Given the description of an element on the screen output the (x, y) to click on. 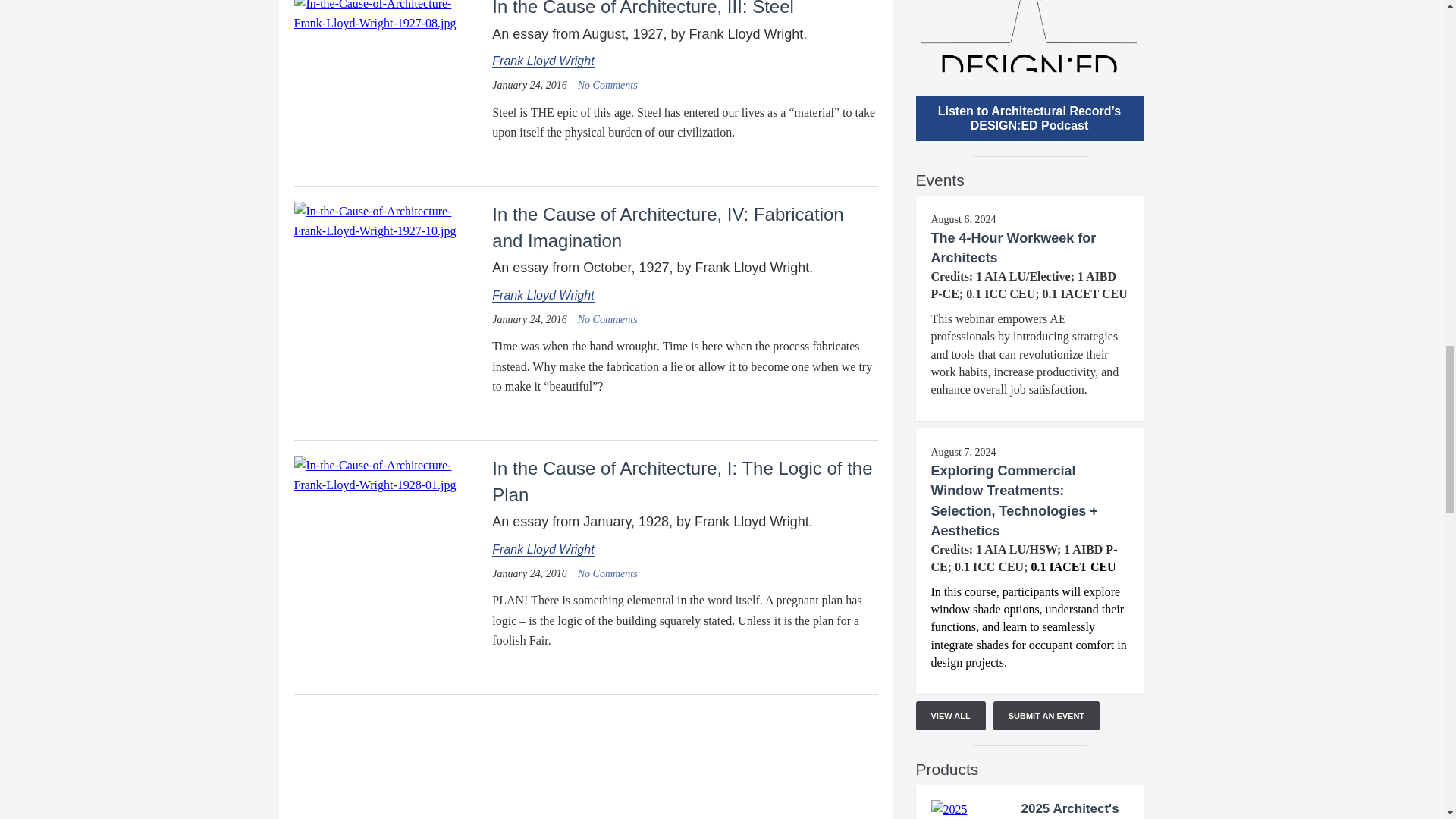
In the Cause of Architecture, III: Steel (387, 11)
In-the-Cause-of-Architecture-Frank-Lloyd-Wright-1927-08.jpg (387, 17)
In the Cause of Architecture, III: Steel (607, 84)
